Given the description of an element on the screen output the (x, y) to click on. 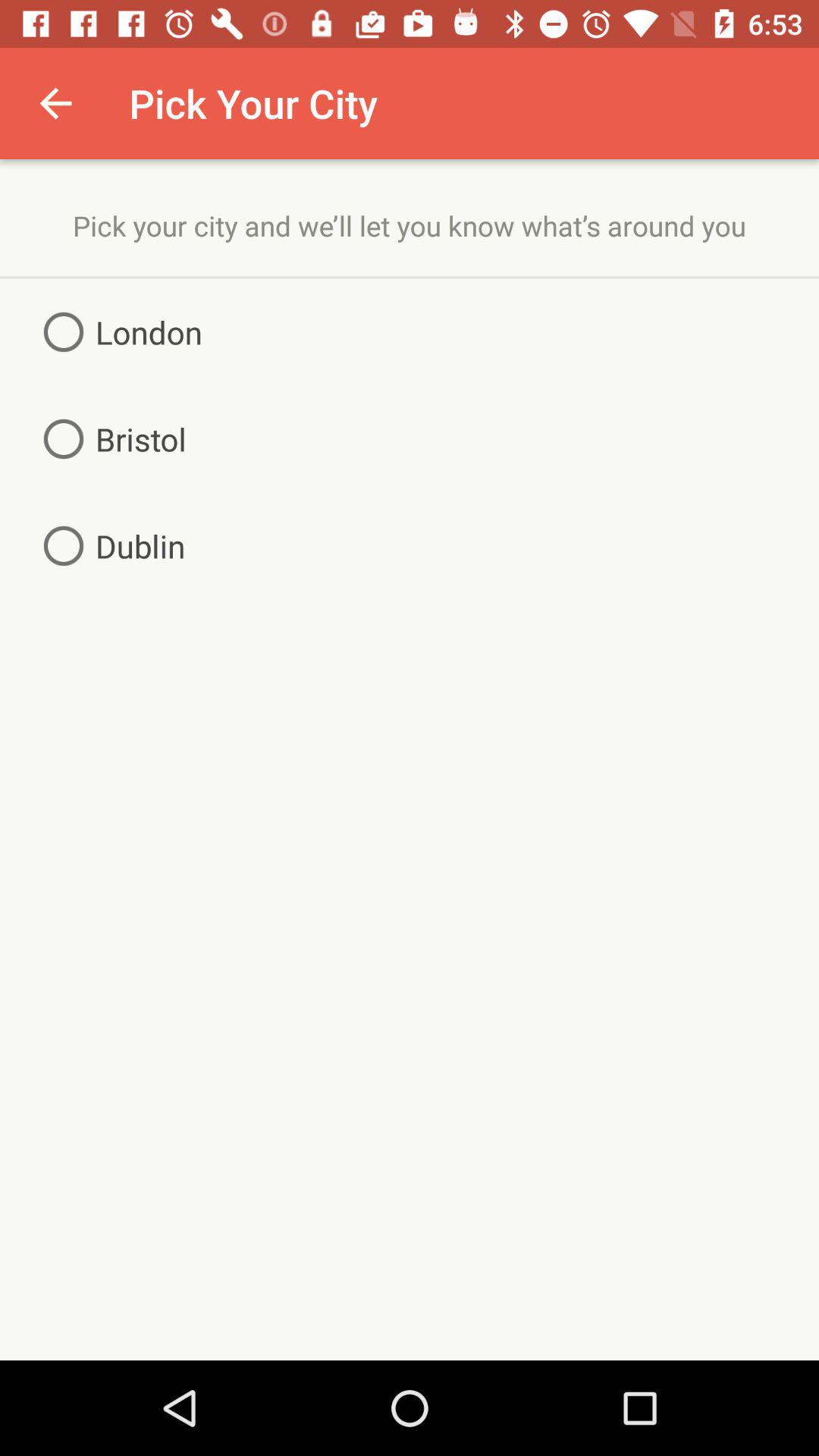
turn off the icon below the london icon (108, 438)
